Given the description of an element on the screen output the (x, y) to click on. 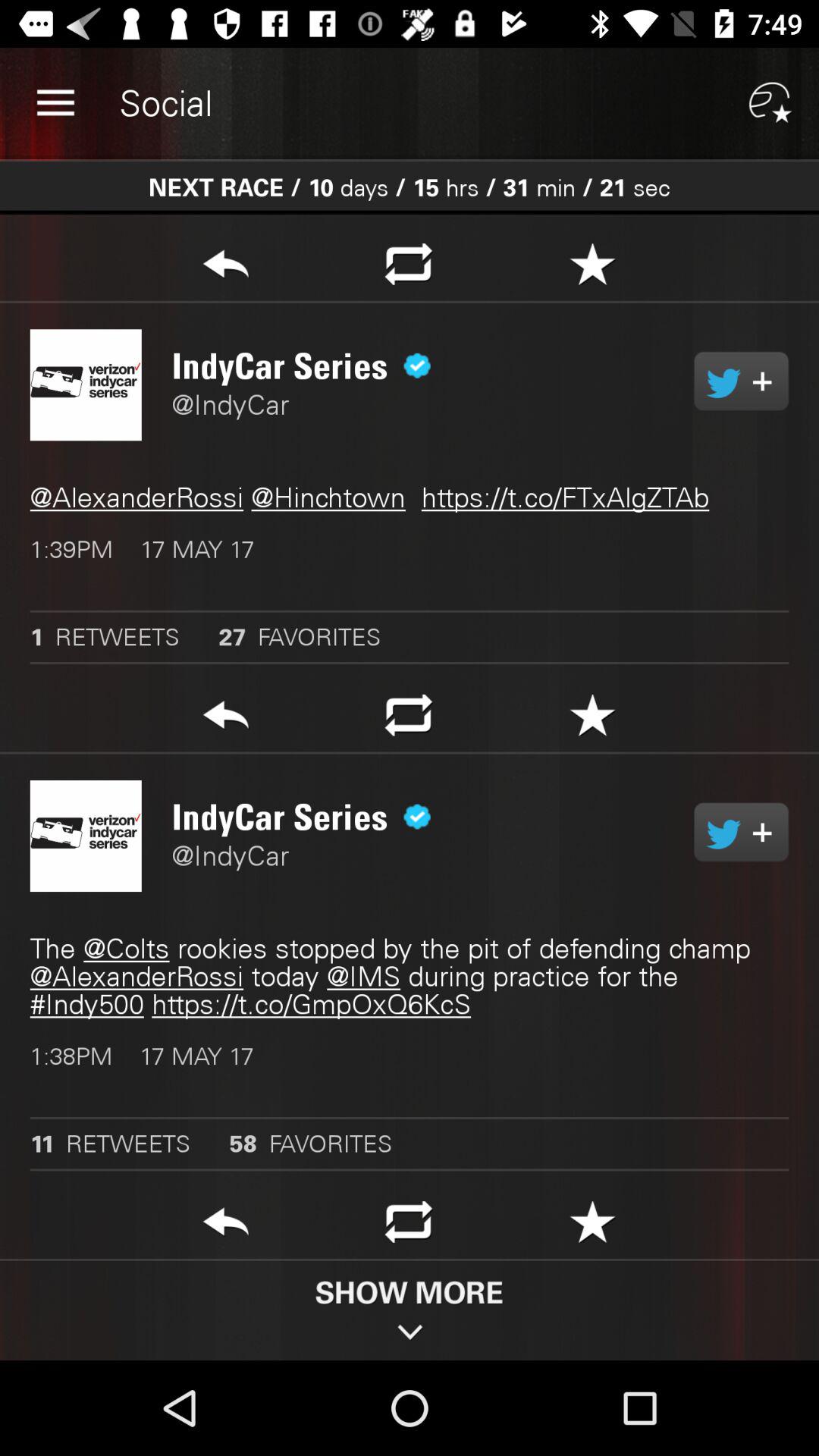
turn off the item next to social app (55, 103)
